Given the description of an element on the screen output the (x, y) to click on. 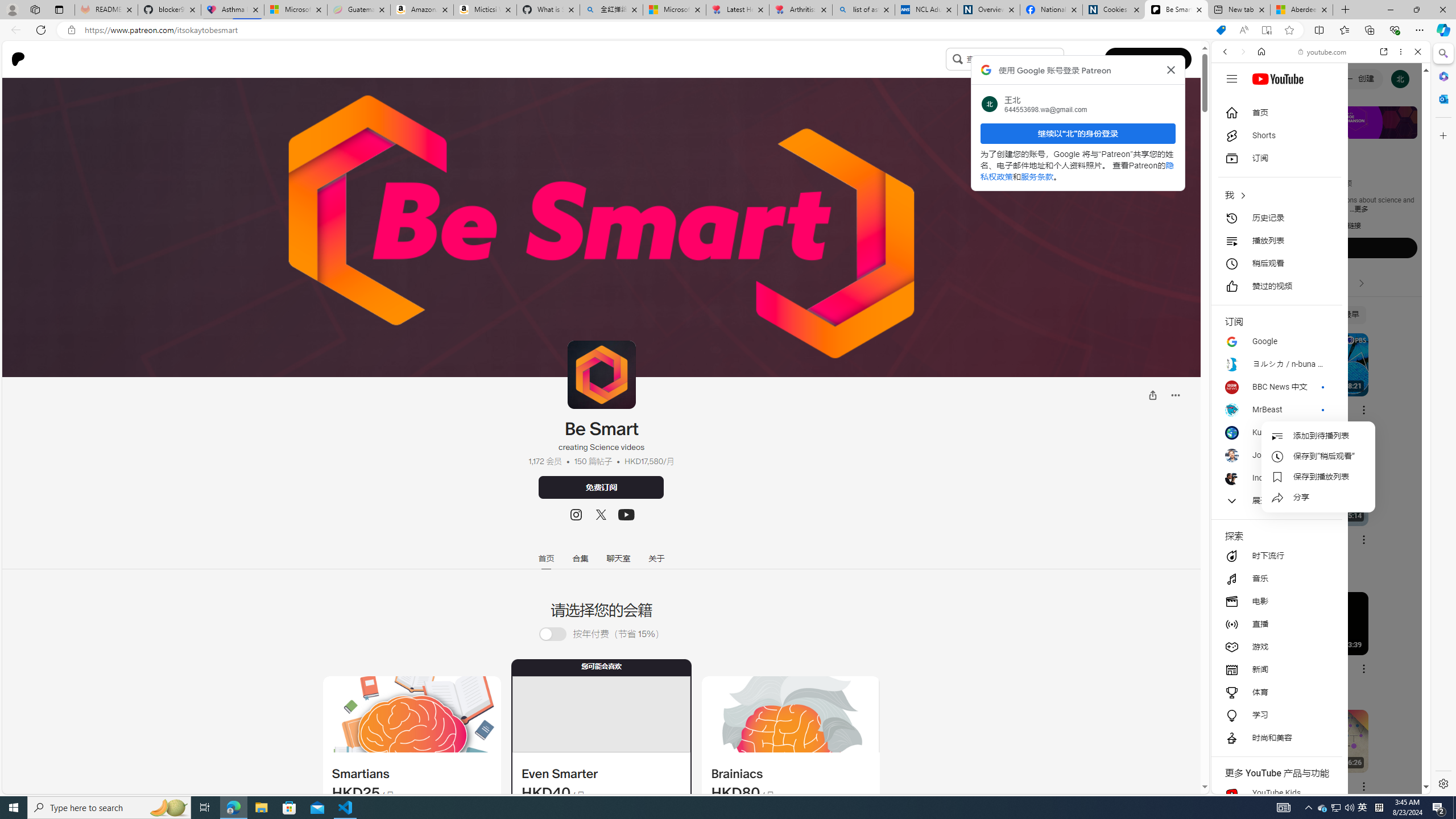
Search the web (1326, 78)
list of asthma inhalers uk - Search (863, 9)
Search videos from youtube.com (1299, 373)
Class: Bz112c Bz112c-r9oPif (1170, 69)
